Given the description of an element on the screen output the (x, y) to click on. 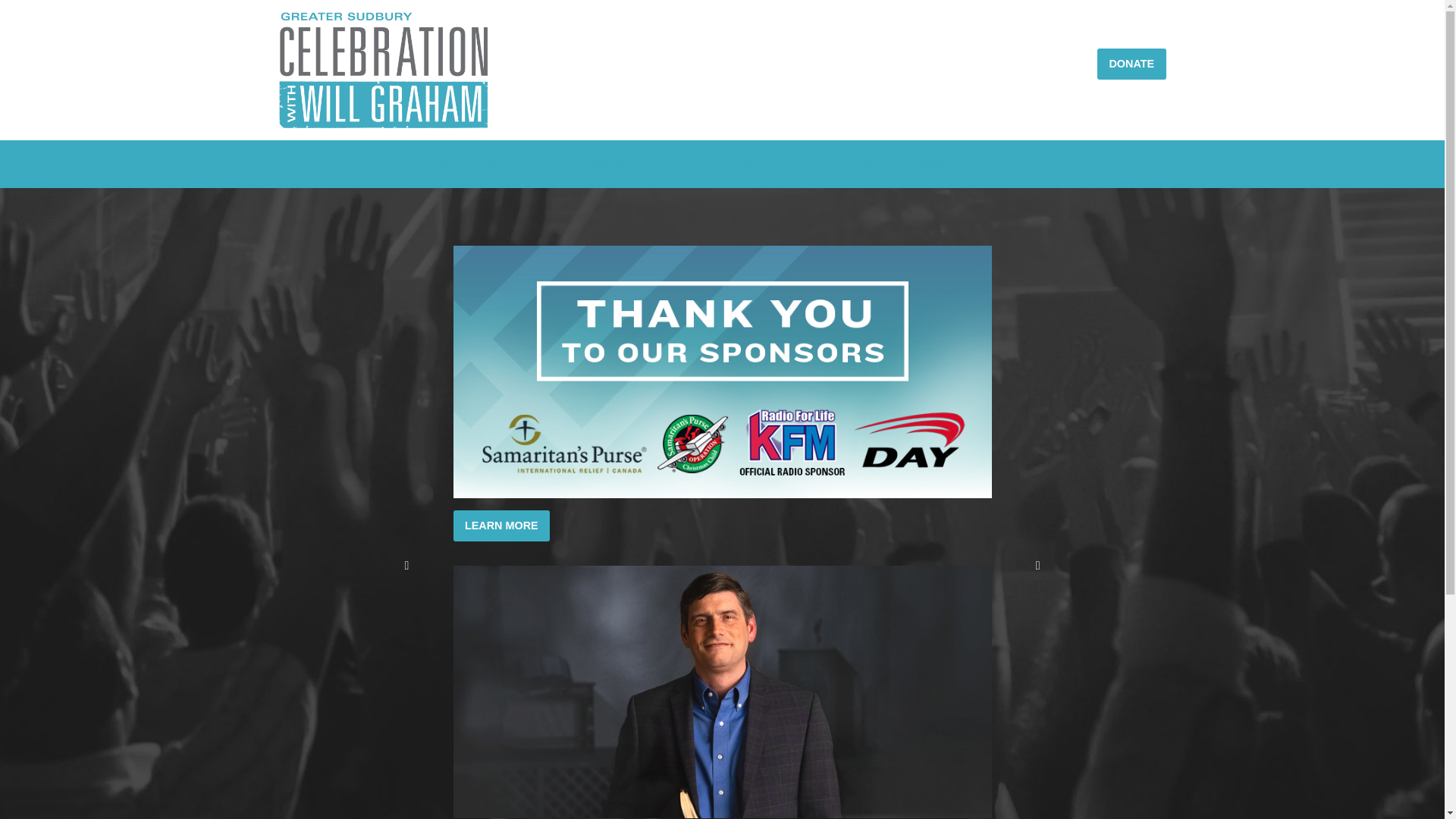
RESOURCES Element type: text (772, 163)
STORIES Element type: text (861, 163)
ABOUT Element type: text (503, 163)
DONATE Element type: text (937, 163)
Sudbury Celebration with Will Graham Element type: hover (383, 68)
LEARN MORE Element type: text (501, 525)
Search Element type: text (827, 215)
DONATE Element type: text (1131, 63)
GET INVOLVED Element type: text (592, 163)
HOME Element type: text (440, 163)
EVENTS Element type: text (685, 163)
